Given the description of an element on the screen output the (x, y) to click on. 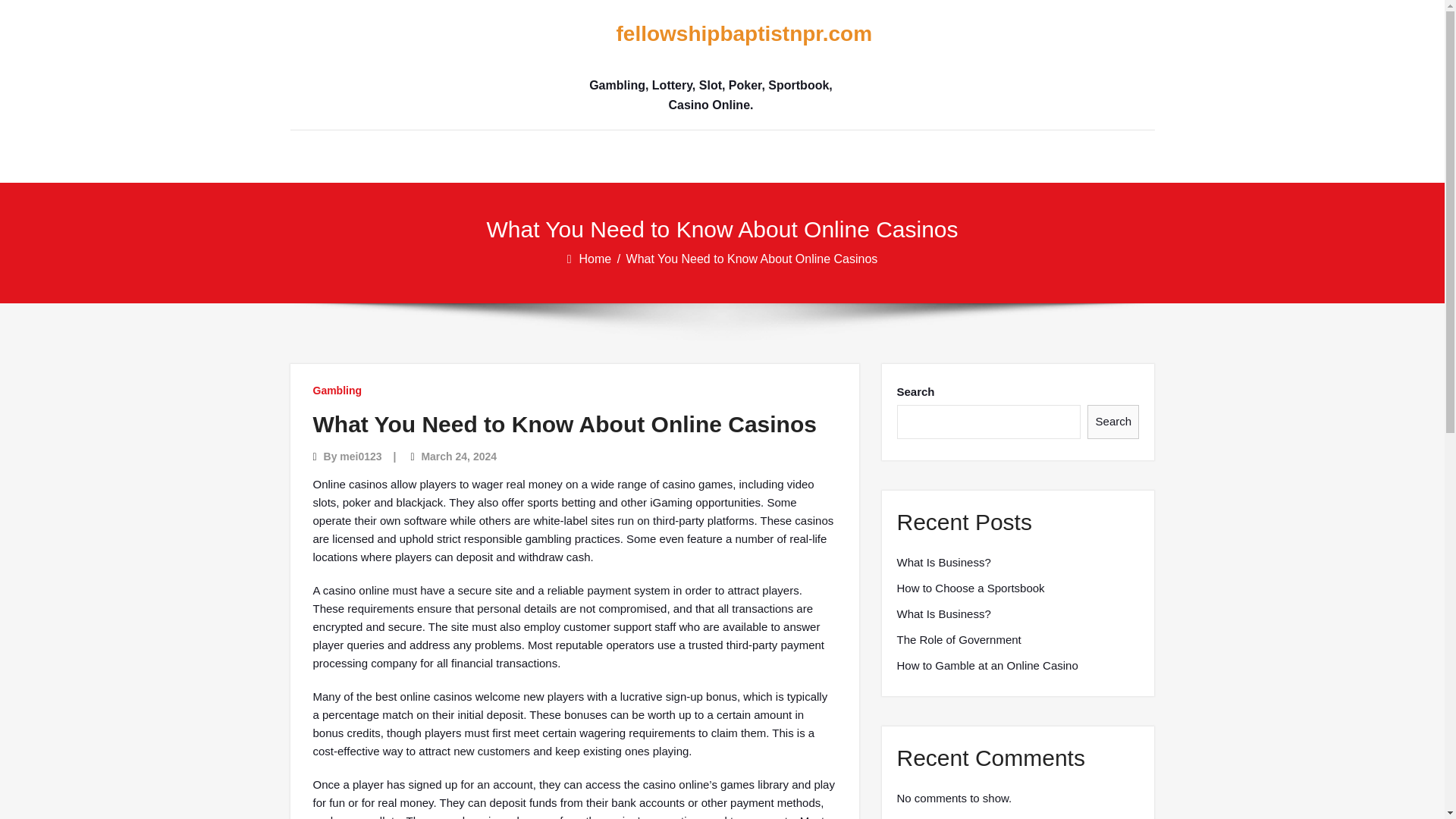
What Is Business? (943, 562)
Search (1112, 421)
The Role of Government (958, 639)
Home (596, 258)
mei0123 (360, 456)
How to Gamble at an Online Casino (986, 665)
Gambling (337, 390)
fellowshipbaptistnpr.com (710, 34)
How to Choose a Sportsbook (969, 588)
March 24, 2024 (458, 456)
What Is Business? (943, 614)
